Given the description of an element on the screen output the (x, y) to click on. 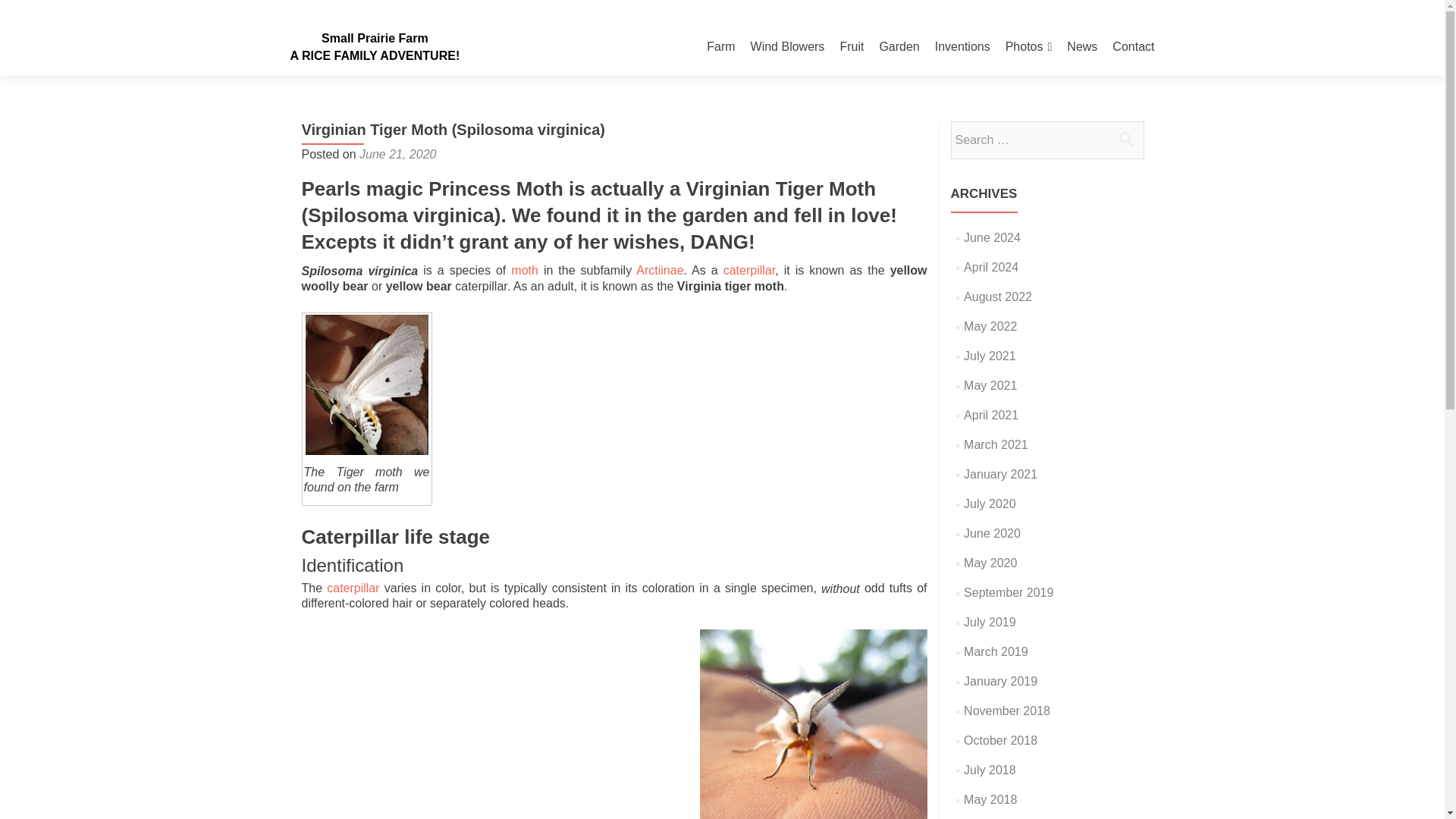
News (1082, 46)
Garden (898, 46)
Search (1125, 138)
Contact (1133, 46)
Fruit (851, 46)
Caterpillar (748, 269)
caterpillar (748, 269)
Wind Blowers (788, 46)
Farm (720, 46)
Arctiinae (659, 269)
Moth (524, 269)
moth (524, 269)
Small Prairie Farm (374, 38)
caterpillar (352, 587)
Inventions (962, 46)
